Given the description of an element on the screen output the (x, y) to click on. 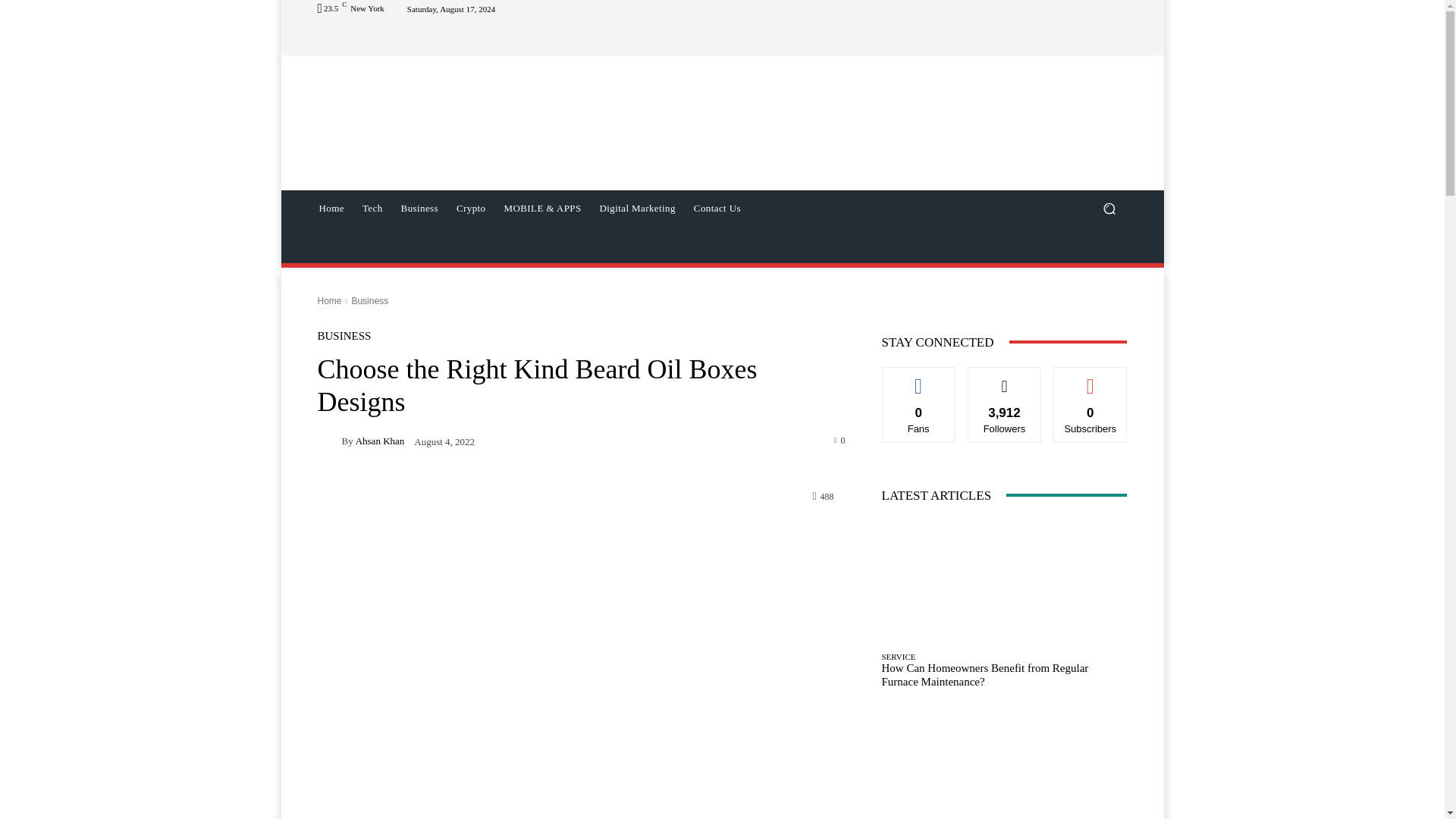
View all posts in Business (369, 300)
Contact Us (716, 208)
Home (328, 300)
Tech (372, 208)
Home (330, 208)
Ahsan Khan (328, 440)
Business (369, 300)
Ahsan Khan (379, 440)
BUSINESS (344, 336)
Crypto (470, 208)
